Given the description of an element on the screen output the (x, y) to click on. 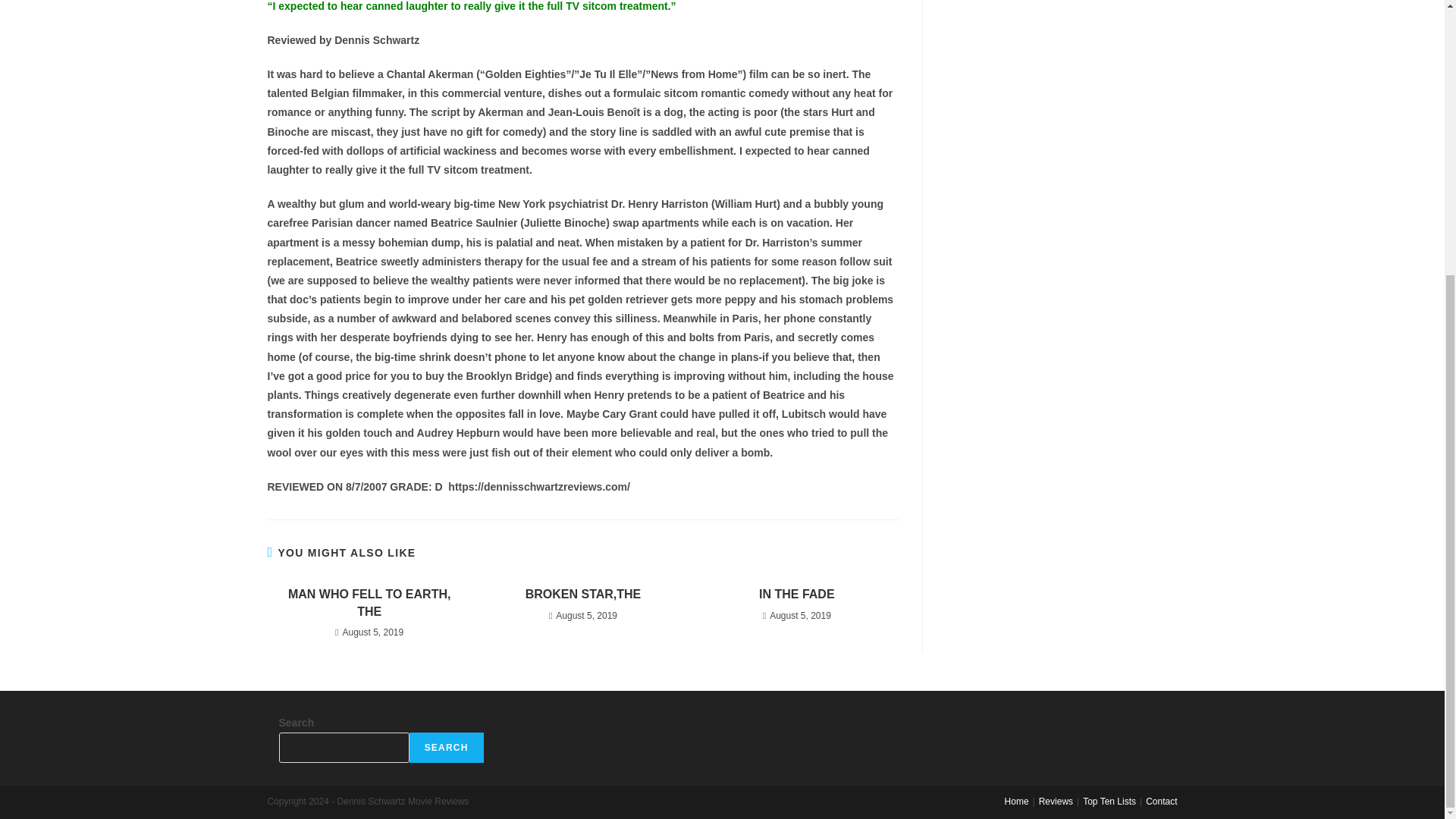
Reviews (1056, 801)
MAN WHO FELL TO EARTH, THE (368, 602)
IN THE FADE (796, 594)
BROKEN STAR,THE (582, 594)
Contact (1160, 801)
Top Ten Lists (1109, 801)
Home (1016, 801)
SEARCH (446, 747)
